Given the description of an element on the screen output the (x, y) to click on. 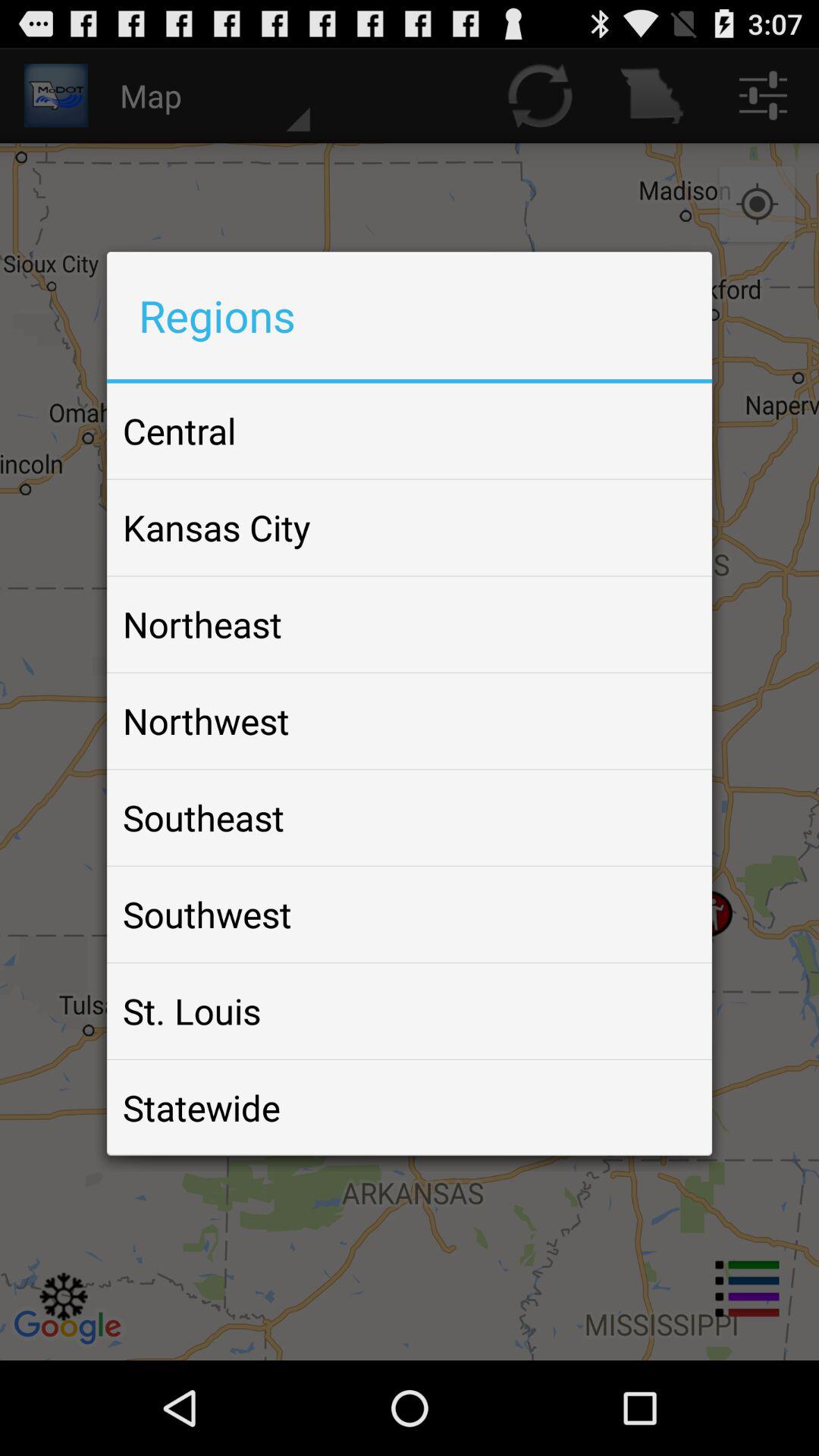
launch the icon above st. louis (206, 914)
